Given the description of an element on the screen output the (x, y) to click on. 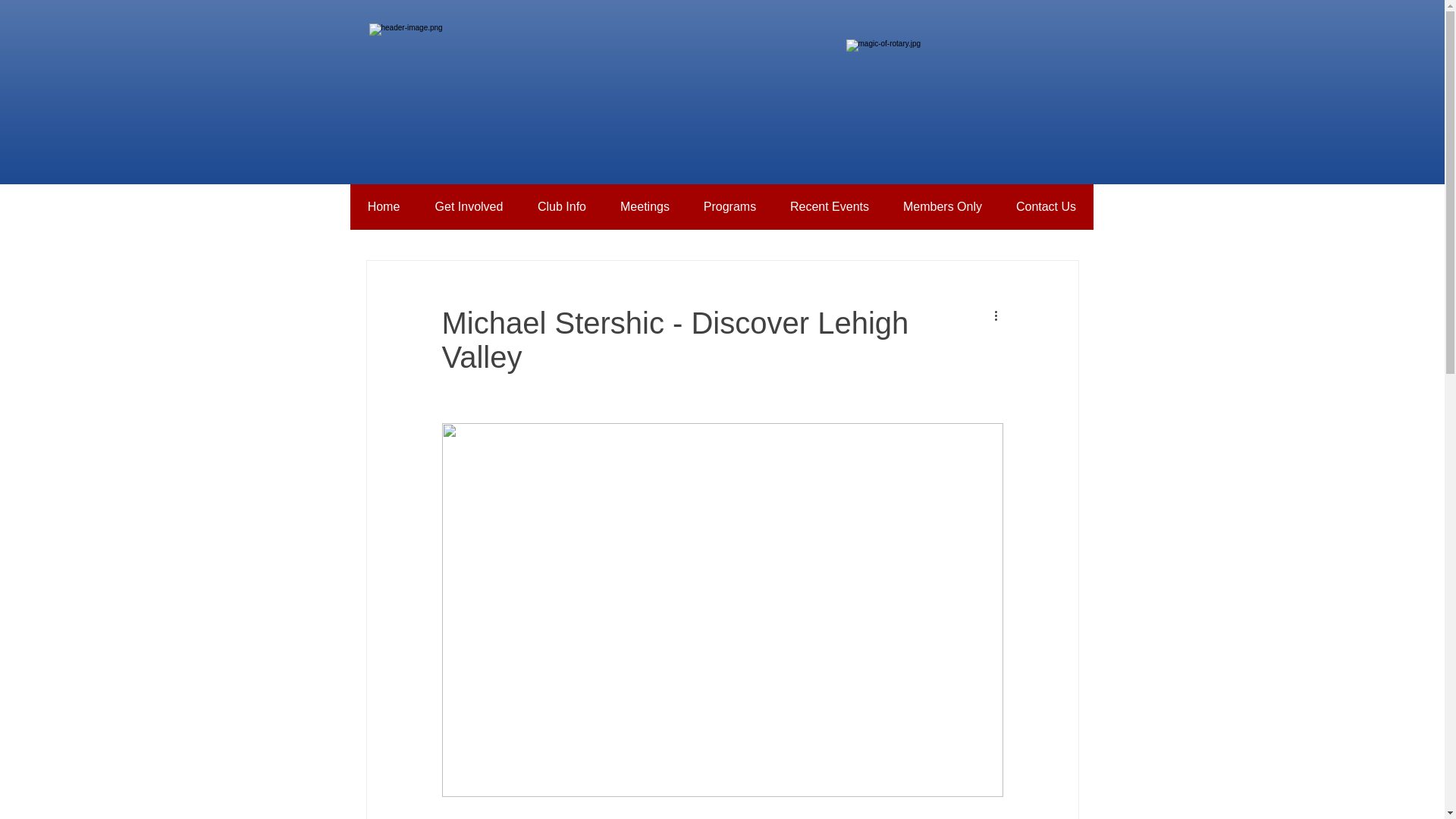
Home (383, 207)
Recent Events (829, 207)
Blogging Tips (477, 213)
Your Community (695, 213)
Getting Started (583, 213)
Get Involved (467, 207)
Programs (730, 207)
Club Info (560, 207)
Members Only (941, 207)
Meetings (645, 207)
Contact Us (1045, 207)
All Posts (388, 213)
